Given the description of an element on the screen output the (x, y) to click on. 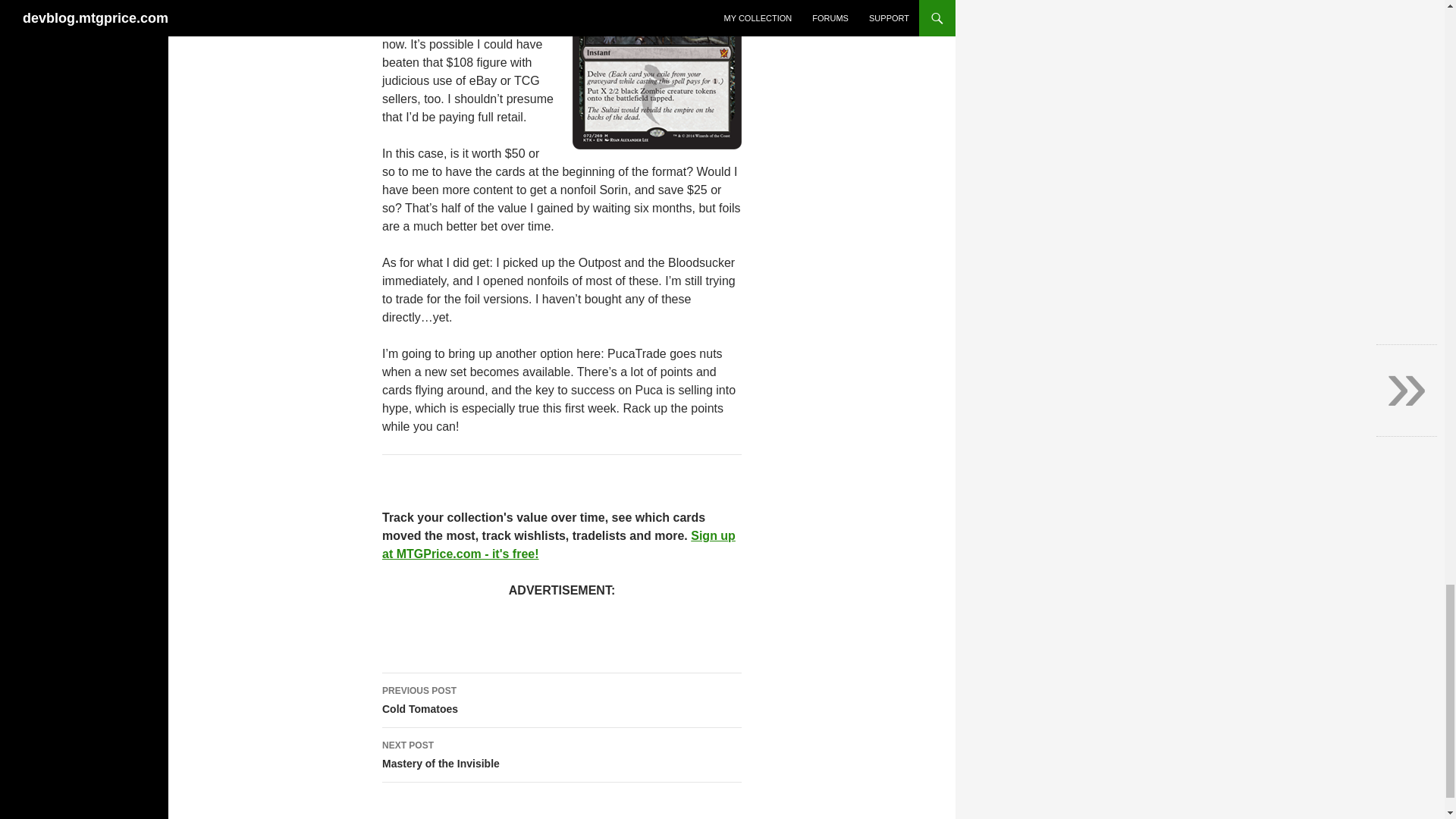
Sign up at MTGPrice.com - it's free! (561, 755)
